Given the description of an element on the screen output the (x, y) to click on. 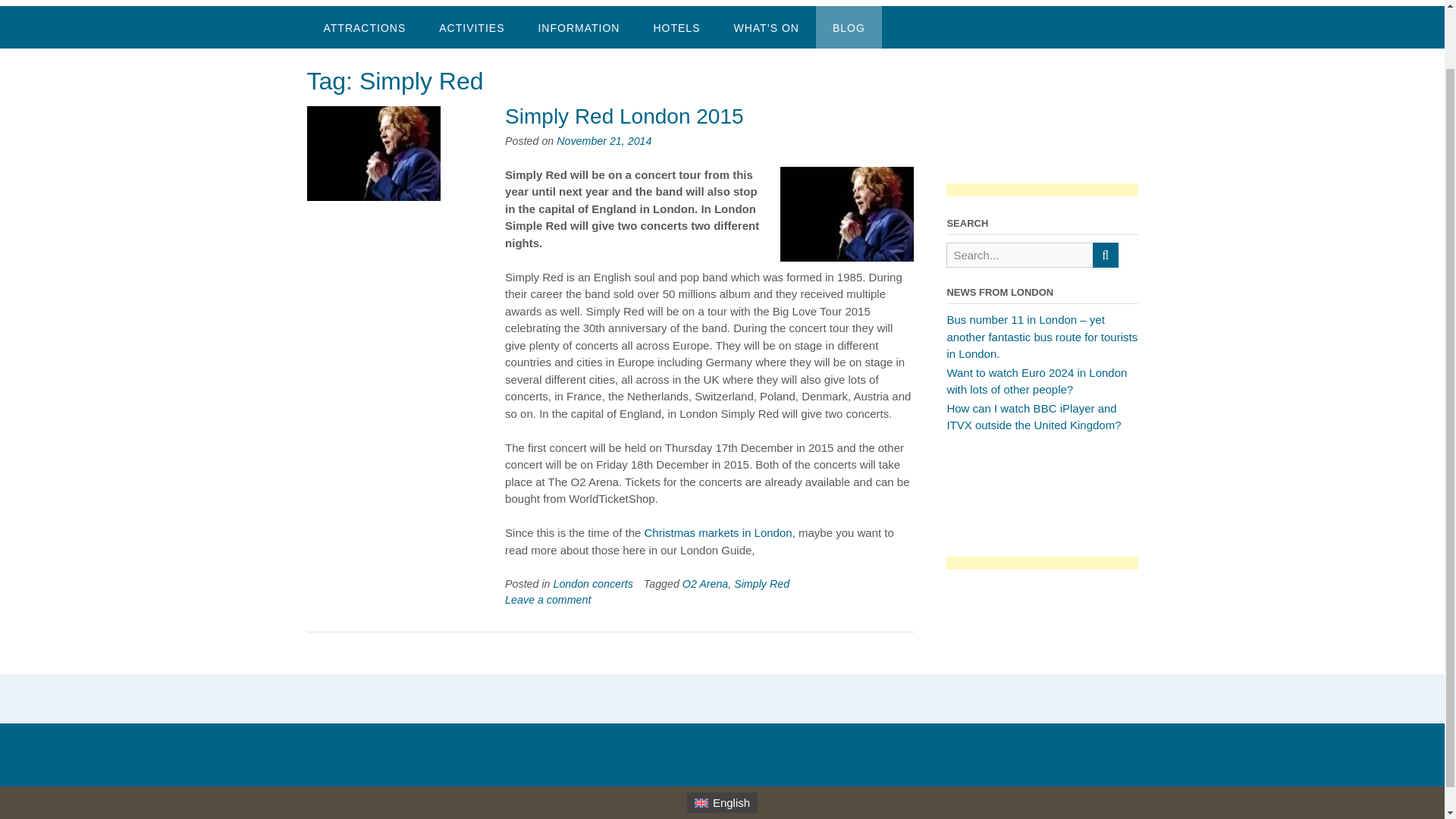
Christmas Markets (718, 532)
ACTIVITIES (471, 25)
INFORMATION (578, 25)
Search for: (1019, 254)
ATTRACTIONS (363, 25)
